Given the description of an element on the screen output the (x, y) to click on. 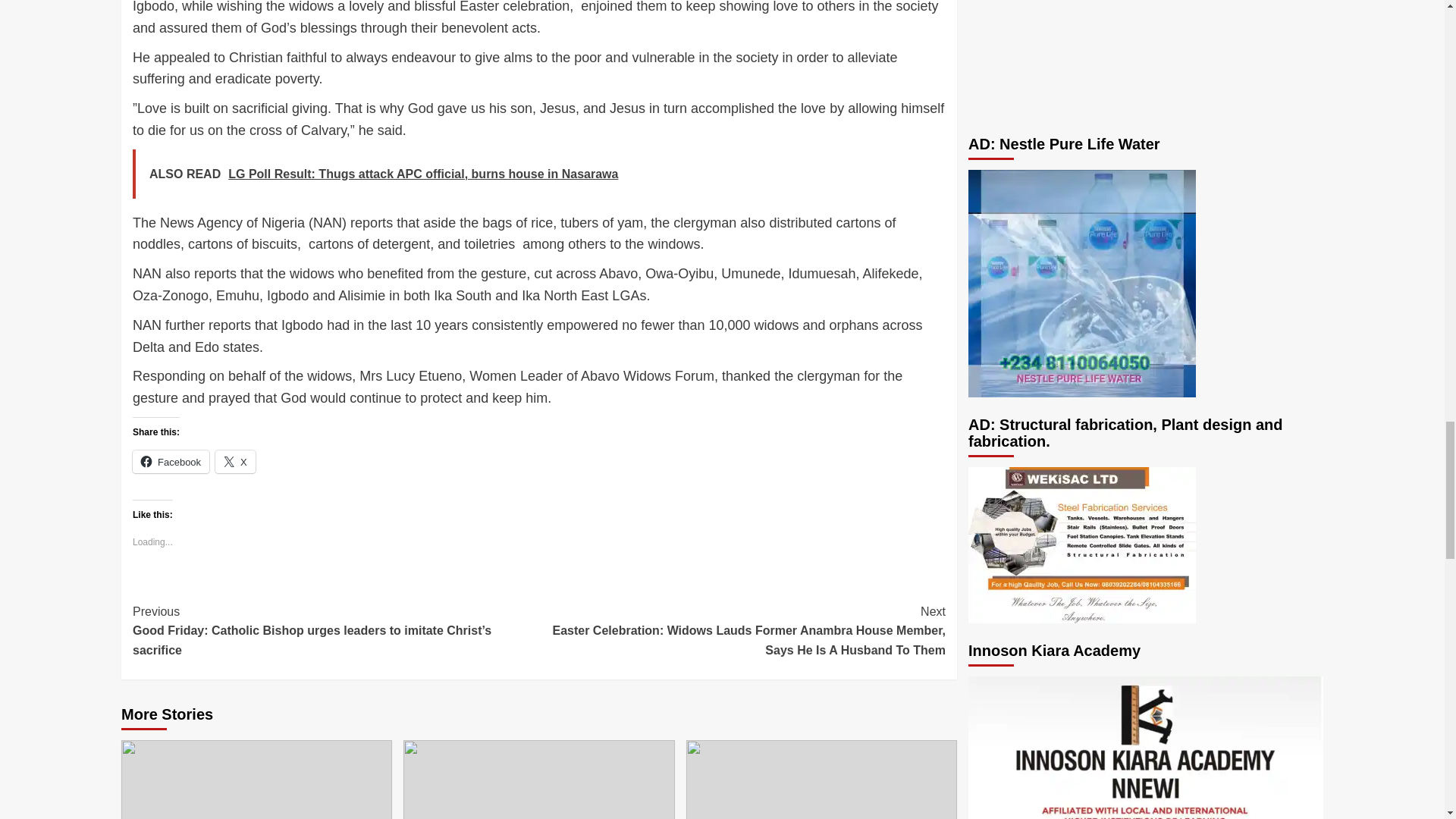
Click to share on X (235, 461)
Click to share on Facebook (170, 461)
